Given the description of an element on the screen output the (x, y) to click on. 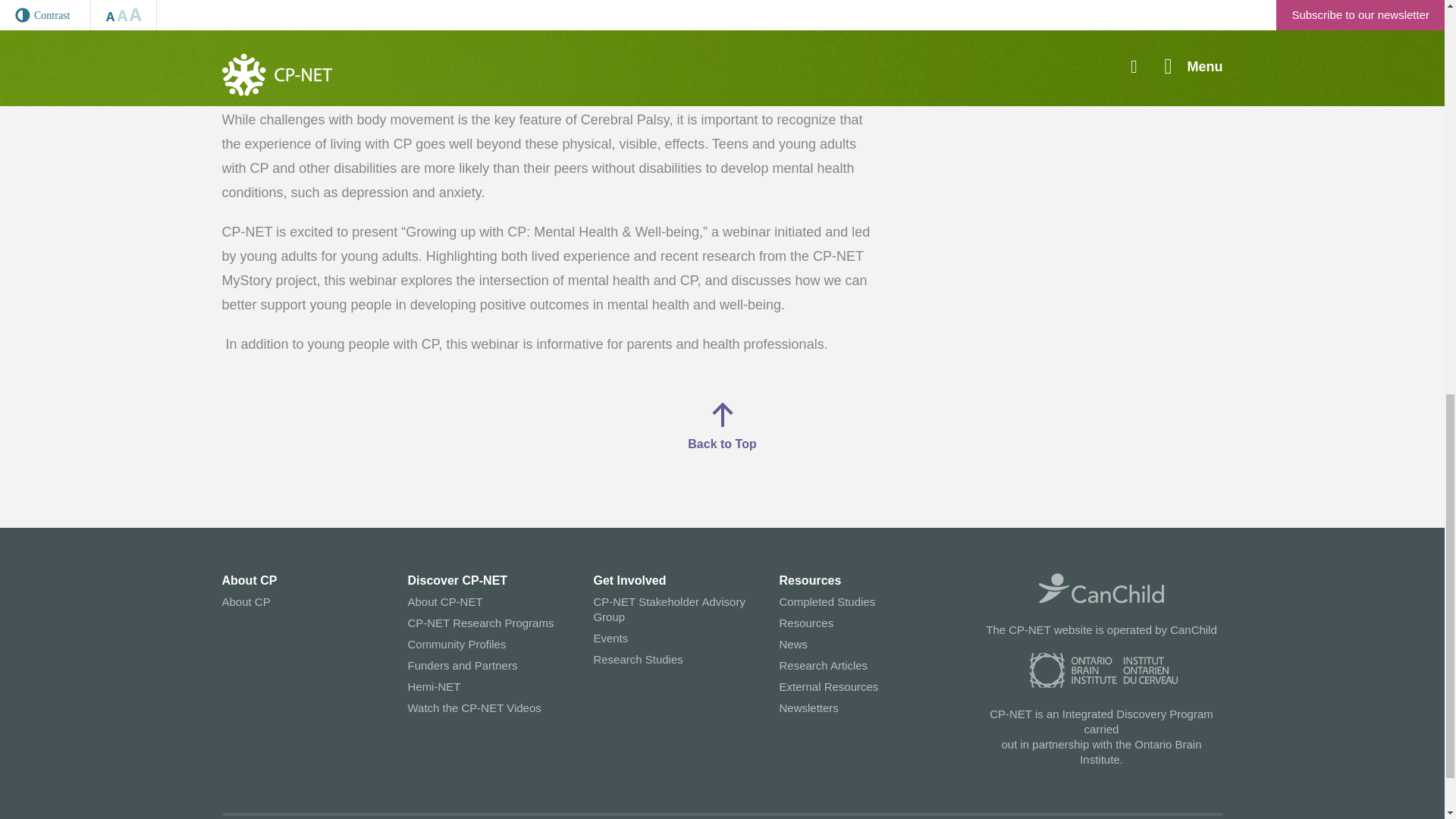
Back to Top (721, 426)
